Given the description of an element on the screen output the (x, y) to click on. 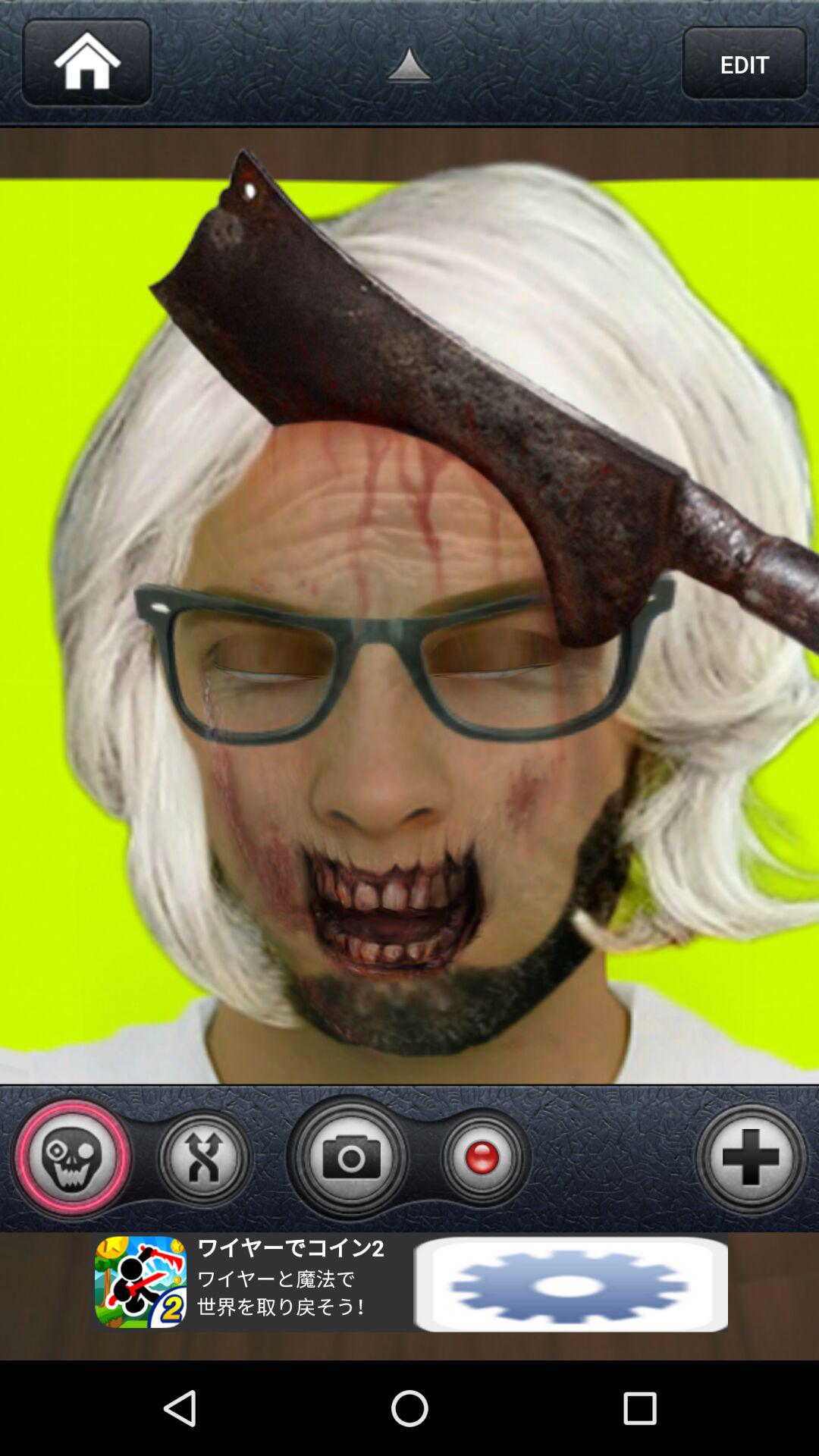
take picture (351, 1157)
